Given the description of an element on the screen output the (x, y) to click on. 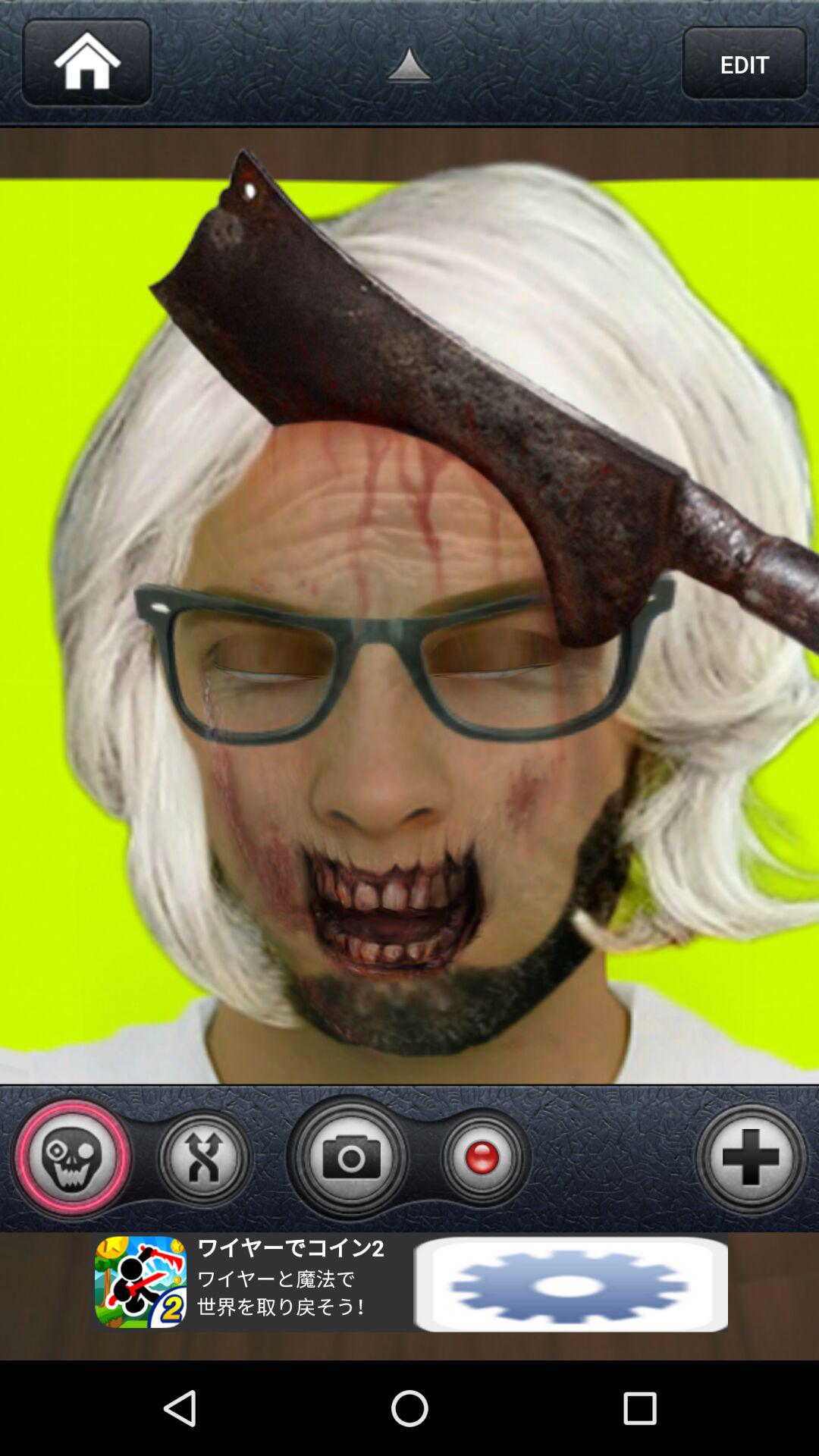
take picture (351, 1157)
